Given the description of an element on the screen output the (x, y) to click on. 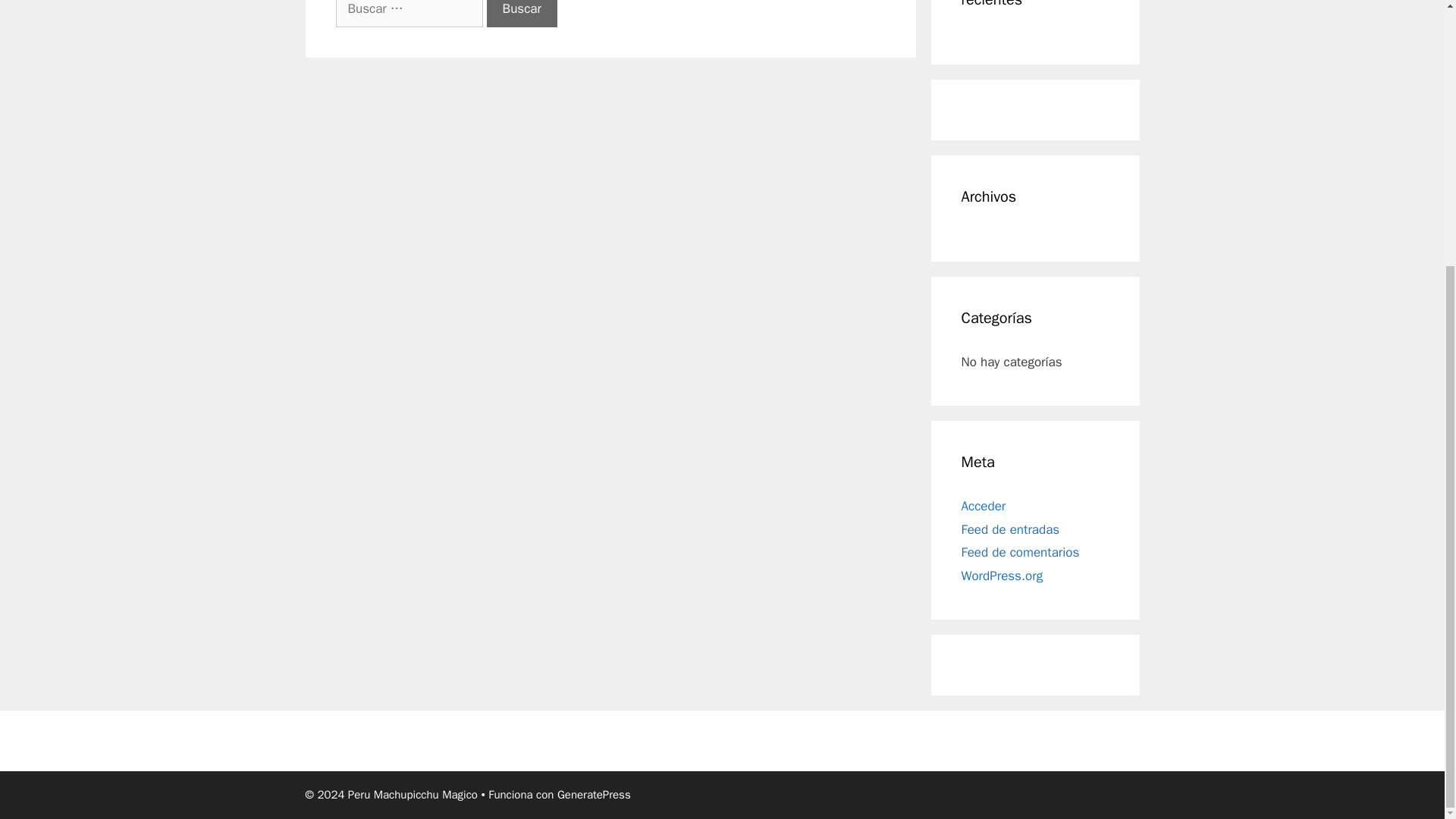
Feed de comentarios (1020, 552)
Feed de entradas (1009, 528)
GeneratePress (593, 794)
Acceder (983, 505)
Buscar: (407, 13)
WordPress.org (1001, 575)
Buscar (521, 13)
Buscar (521, 13)
Buscar (521, 13)
